Given the description of an element on the screen output the (x, y) to click on. 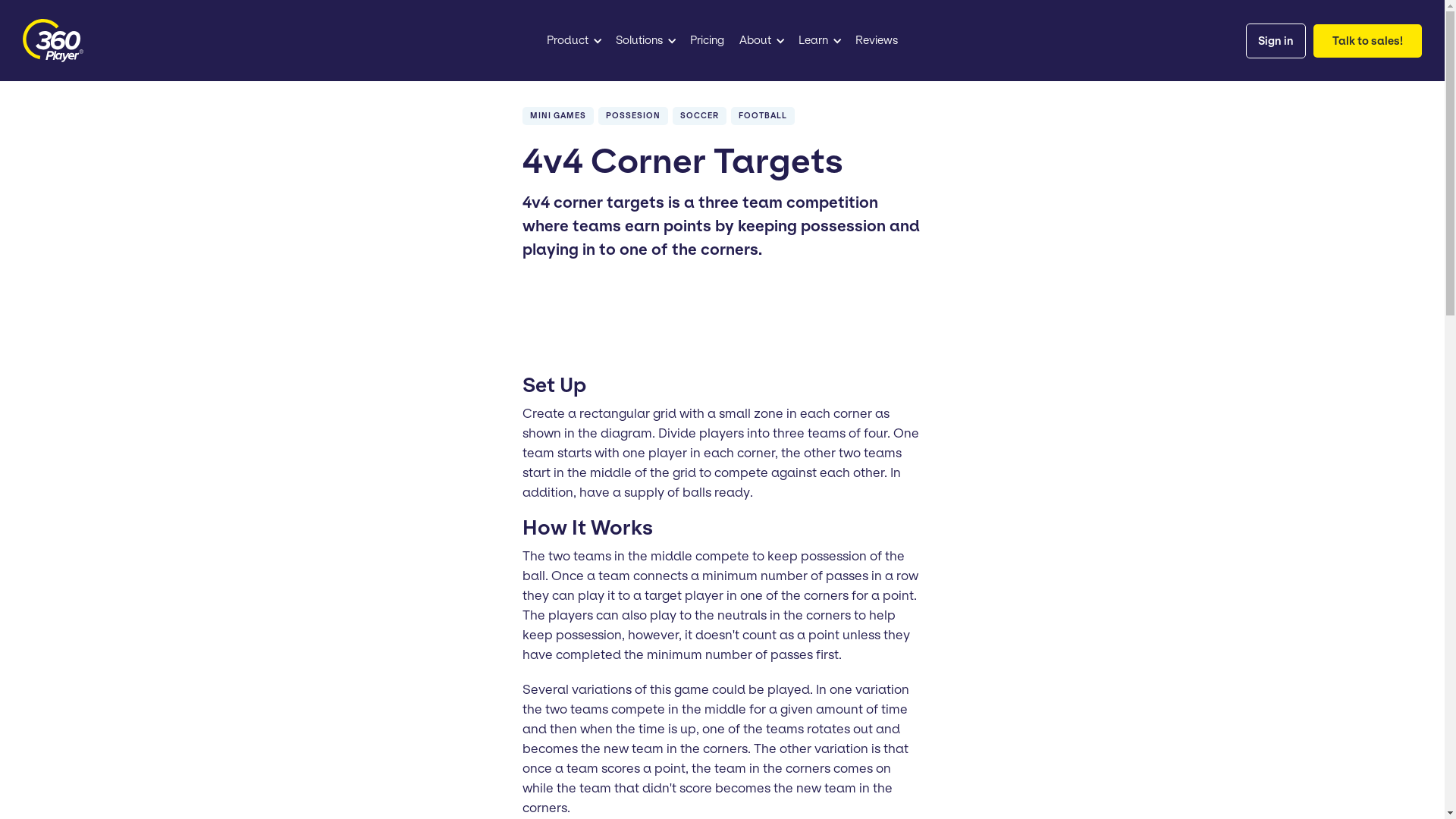
Pricing Element type: text (706, 40)
Talk to sales! Element type: text (1367, 40)
Sign in Element type: text (1275, 40)
Reviews Element type: text (876, 40)
